Given the description of an element on the screen output the (x, y) to click on. 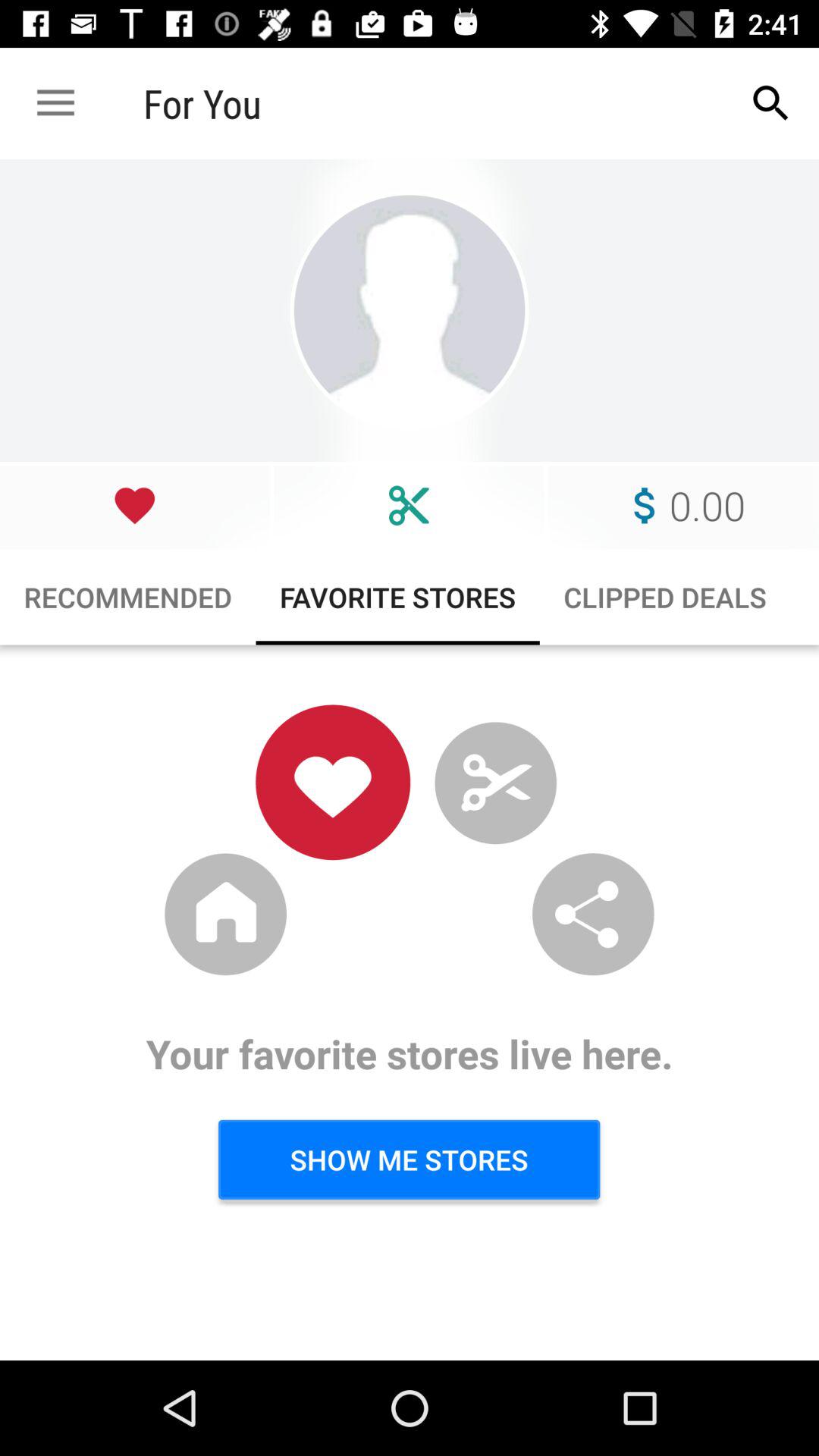
profile picture (409, 310)
